Given the description of an element on the screen output the (x, y) to click on. 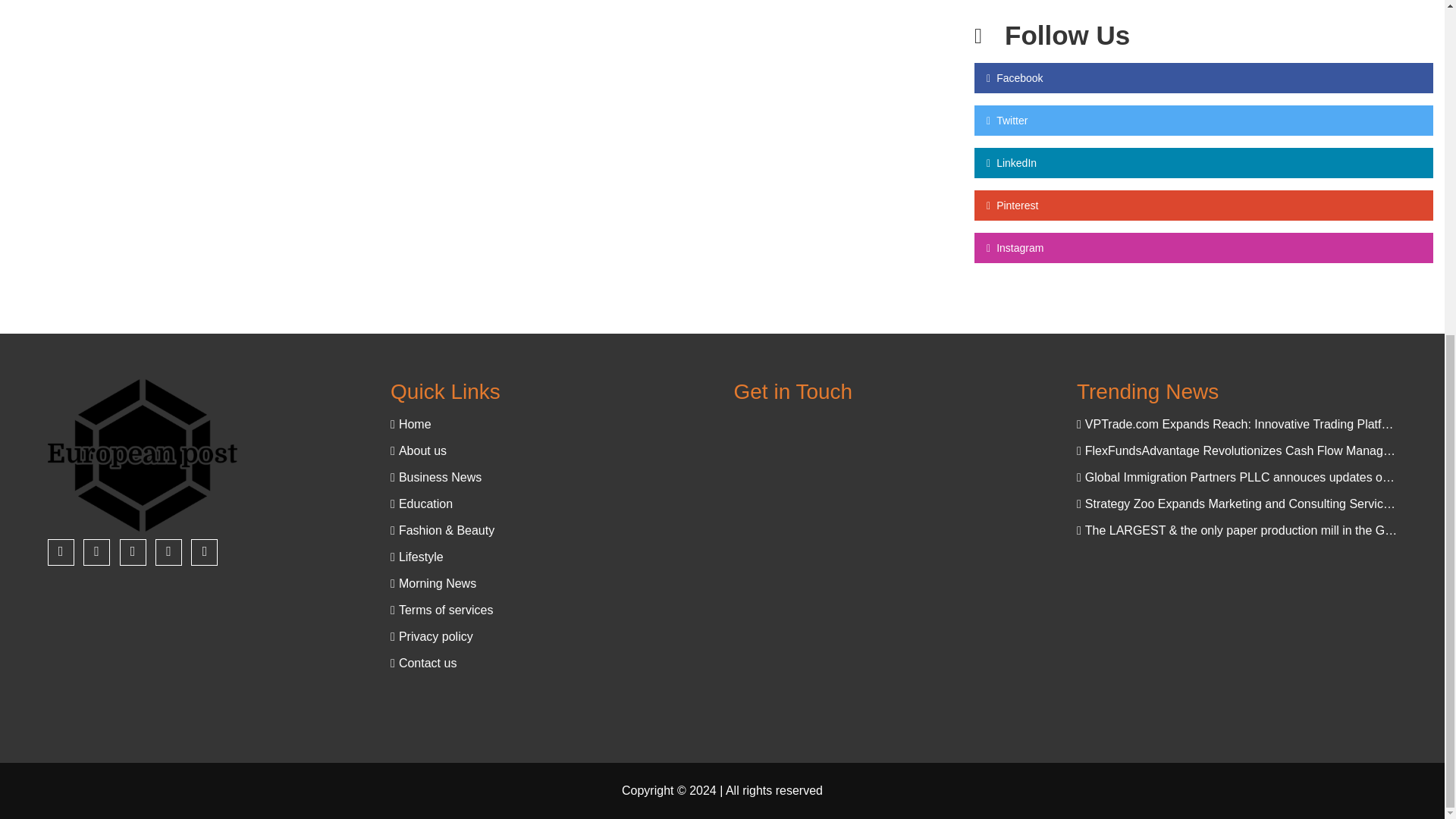
Education (550, 503)
Morning News (550, 583)
Lifestyle (550, 556)
Twitter (1203, 120)
Privacy policy (550, 636)
Business News (550, 477)
About us (550, 450)
Home (550, 424)
Contact us (550, 662)
Instagram (1203, 247)
Pinterest (1203, 205)
LinkedIn (1203, 163)
Facebook (1203, 78)
